Given the description of an element on the screen output the (x, y) to click on. 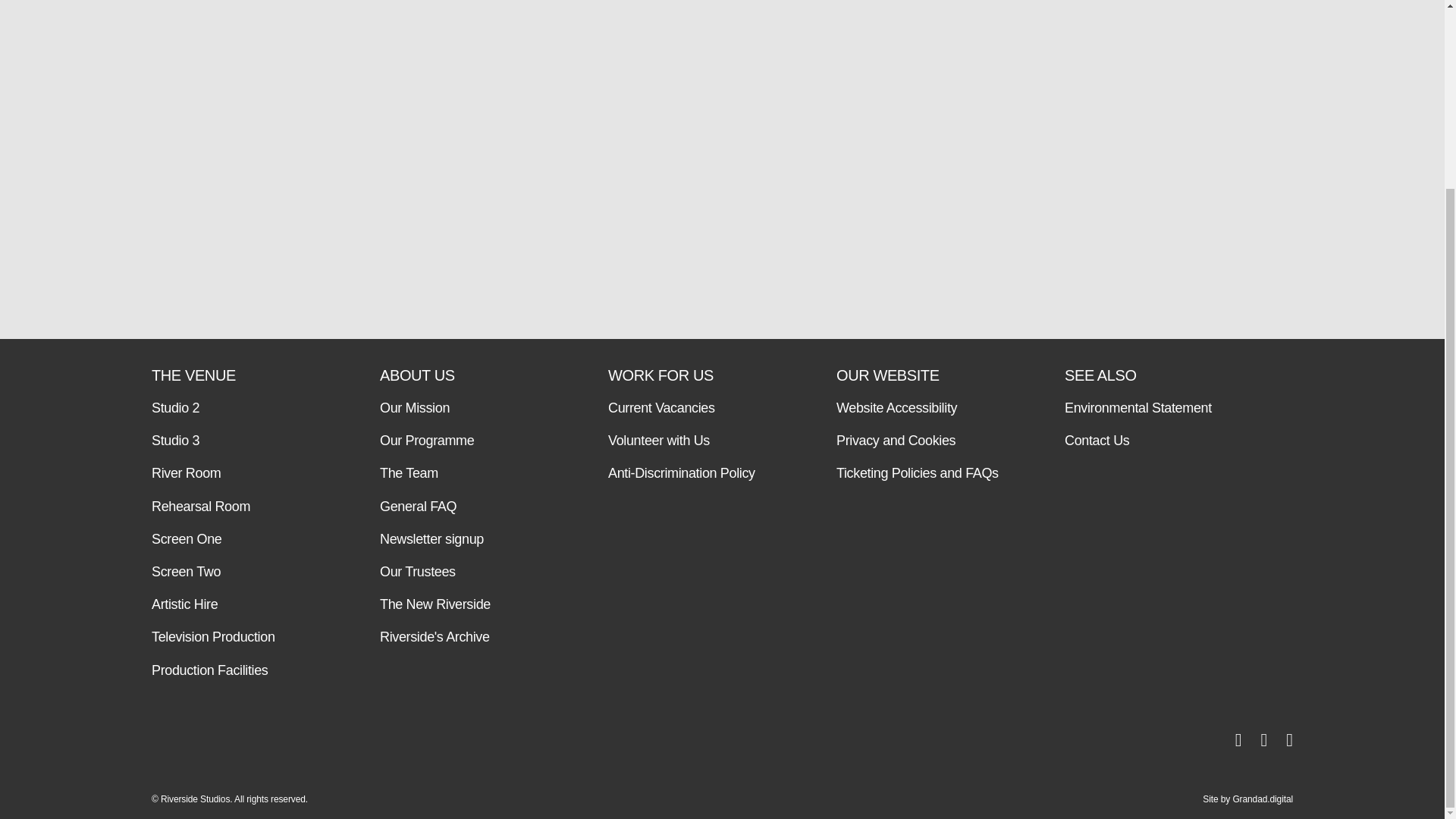
Studio 2 (234, 407)
River Room (234, 473)
Studio 3 (234, 440)
